Given the description of an element on the screen output the (x, y) to click on. 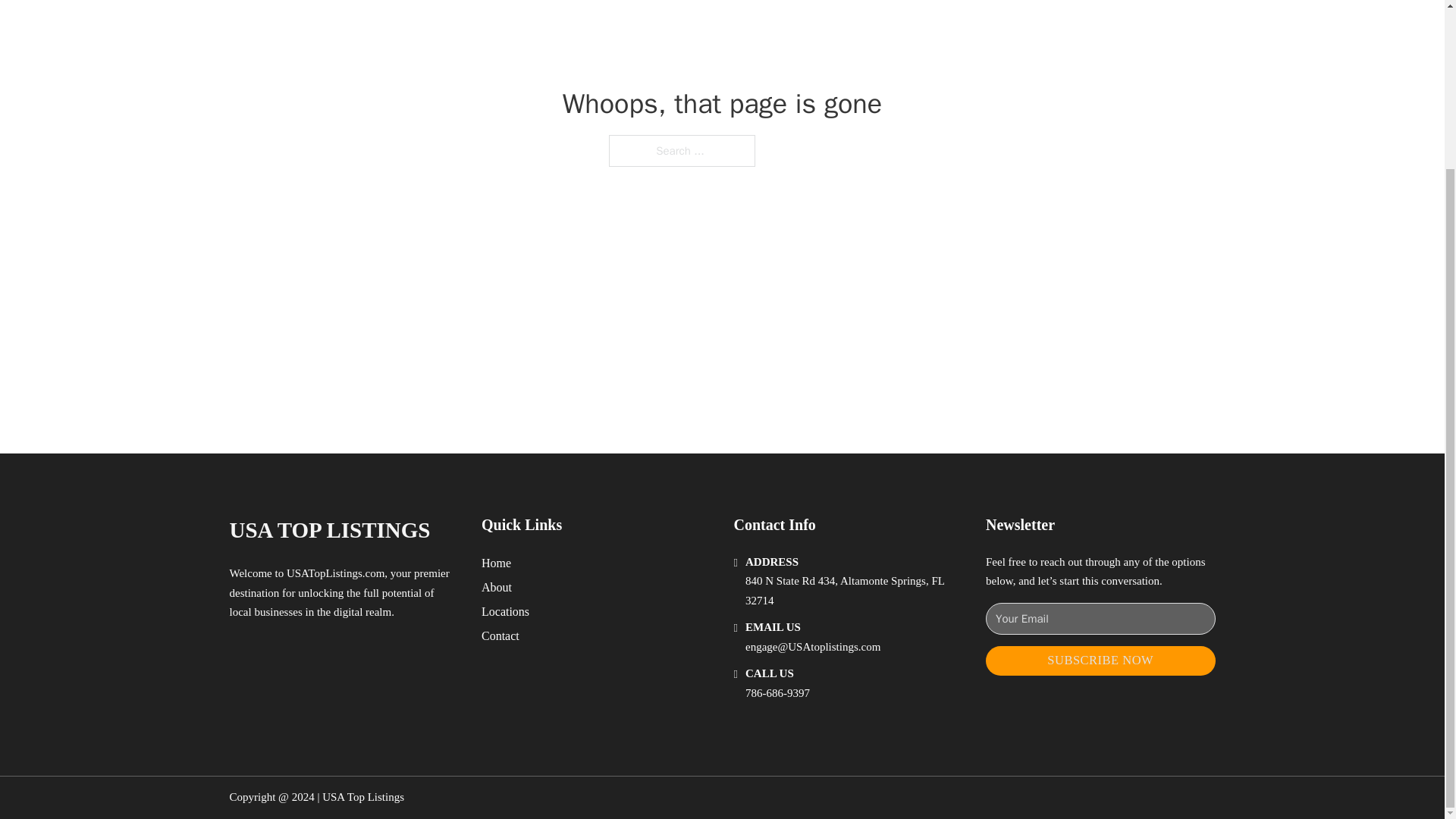
786-686-9397 (777, 693)
About (496, 587)
SUBSCRIBE NOW (1100, 660)
Contact (500, 635)
USATopListings.com (335, 573)
Locations (505, 611)
Home (496, 562)
USA TOP LISTINGS (328, 529)
